Given the description of an element on the screen output the (x, y) to click on. 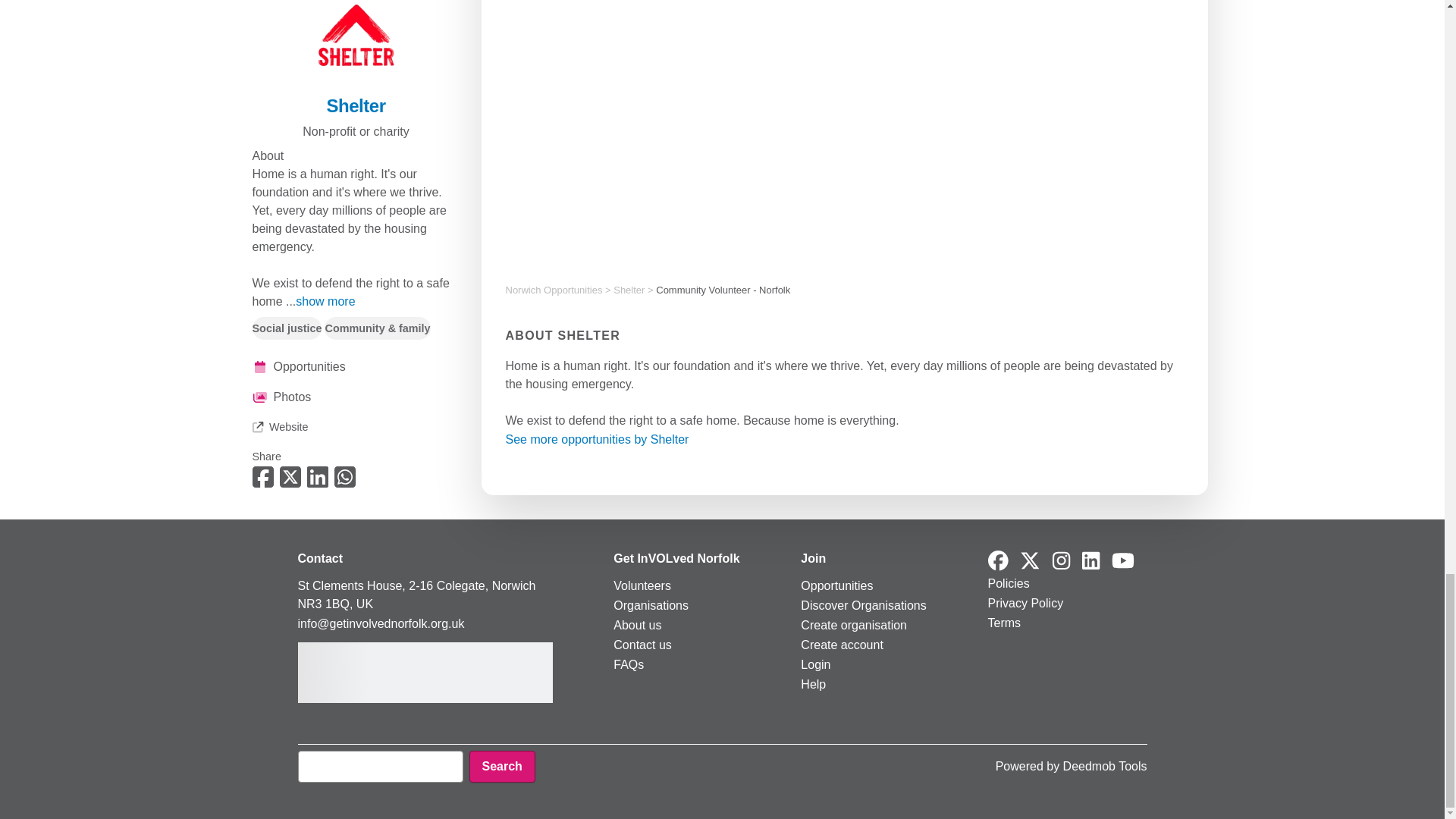
Get InVOLved Norfolk Youtube (1123, 561)
